Given the description of an element on the screen output the (x, y) to click on. 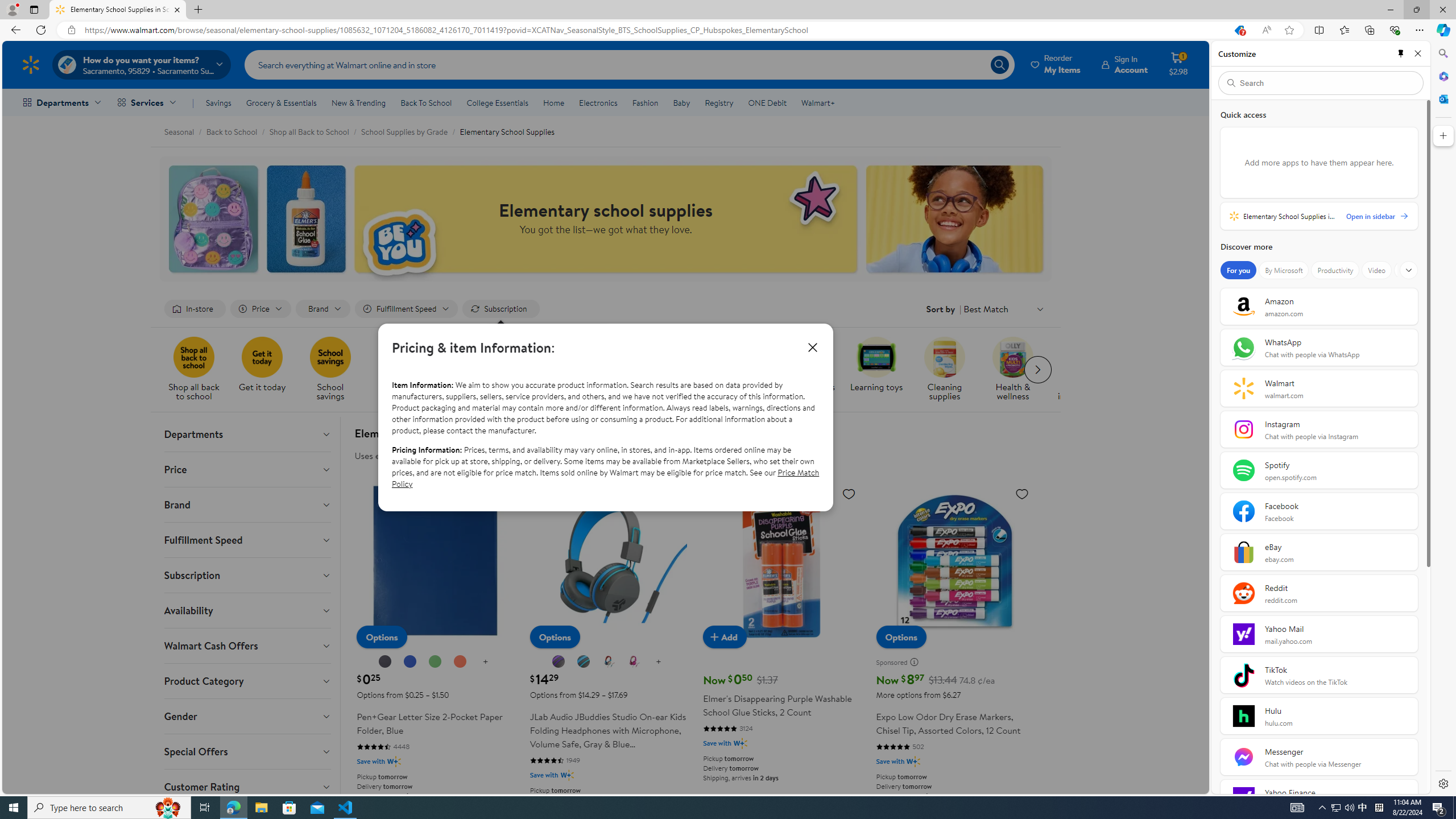
Price Match Policy (605, 477)
Close dialog (812, 346)
Video (1376, 270)
Show more (1408, 270)
